Given the description of an element on the screen output the (x, y) to click on. 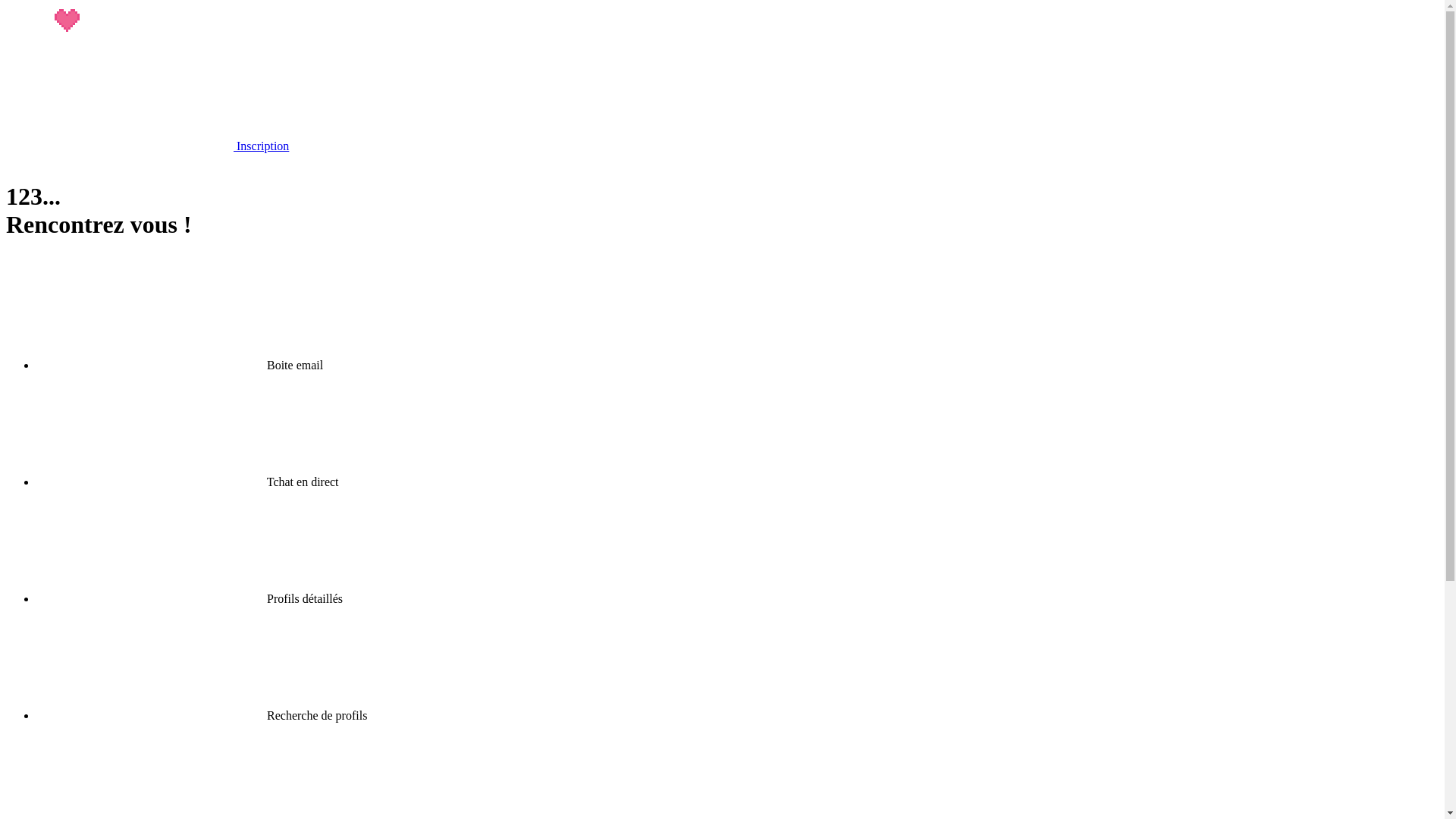
Inscription Element type: text (147, 145)
